Given the description of an element on the screen output the (x, y) to click on. 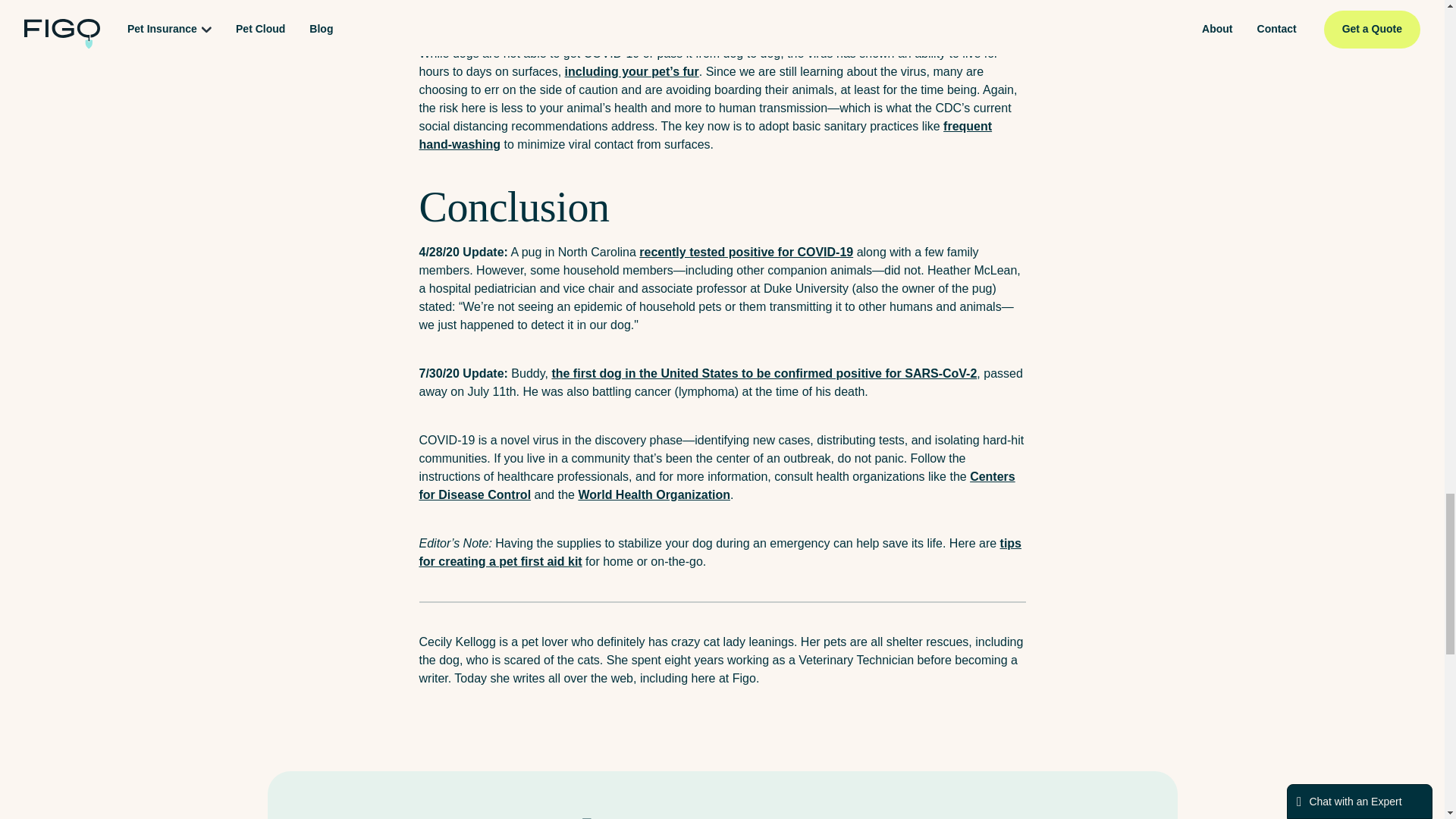
opens in a new window  (720, 552)
opens in a new window  (631, 71)
opens in a new window  (716, 485)
opens in a new window  (654, 494)
World Health Organization (654, 494)
tips for creating a pet first aid kit (720, 552)
opens in a new window  (746, 251)
opens in a new window  (705, 134)
opens in a new window  (763, 373)
Centers for Disease Control (716, 485)
recently tested positive for COVID-19 (746, 251)
frequent hand-washing (705, 134)
